Given the description of an element on the screen output the (x, y) to click on. 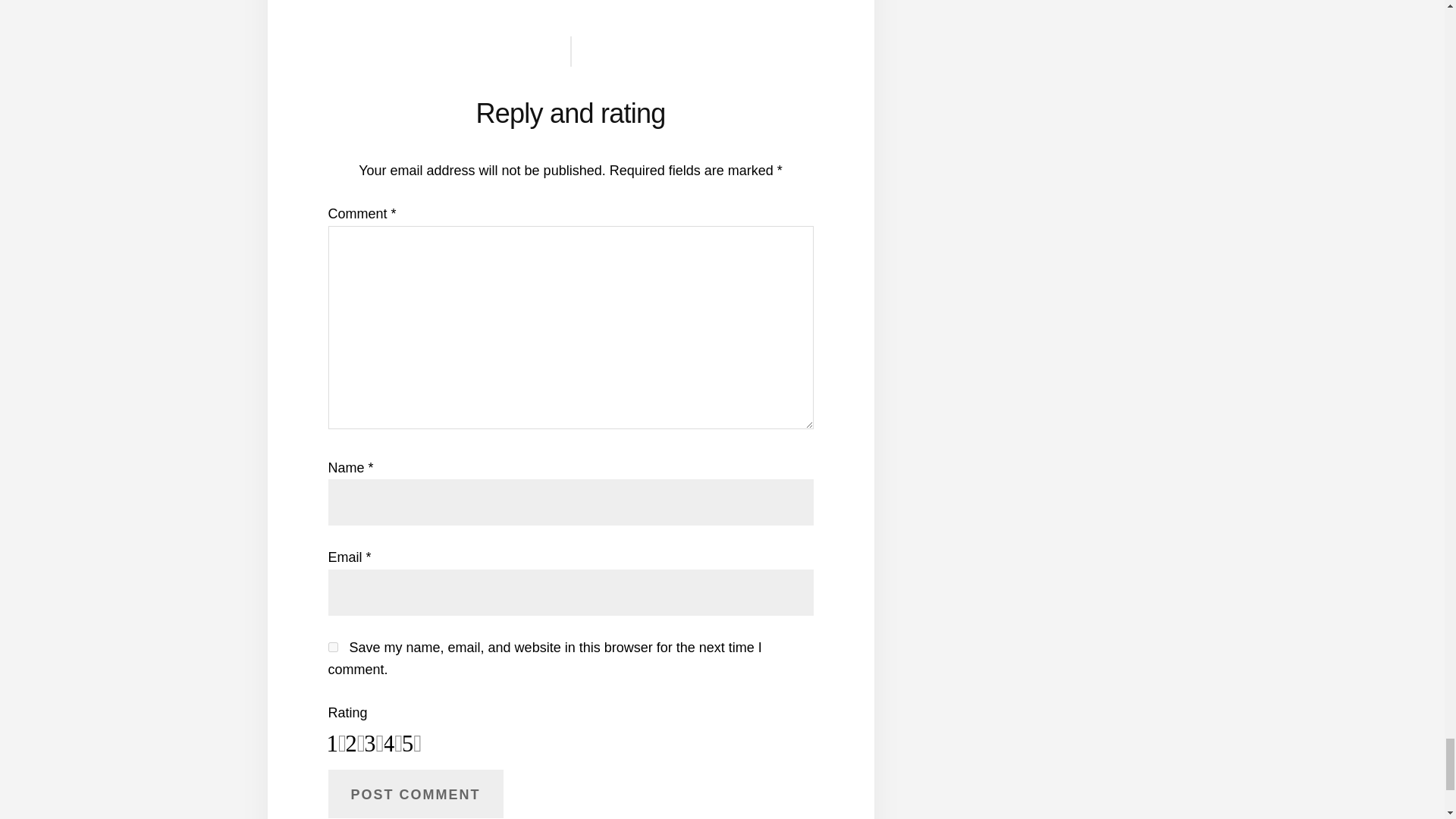
Post Comment (414, 793)
yes (332, 646)
